Given the description of an element on the screen output the (x, y) to click on. 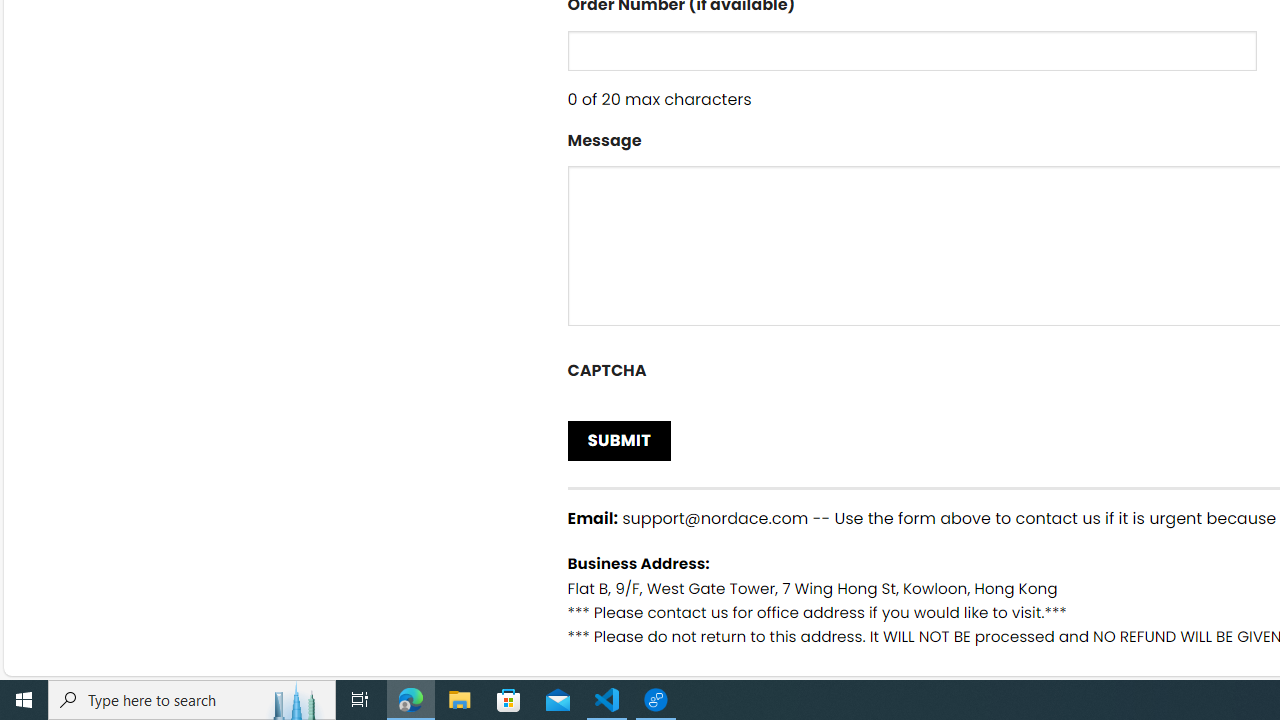
Order Number (if available) (911, 50)
Submit (619, 439)
